Given the description of an element on the screen output the (x, y) to click on. 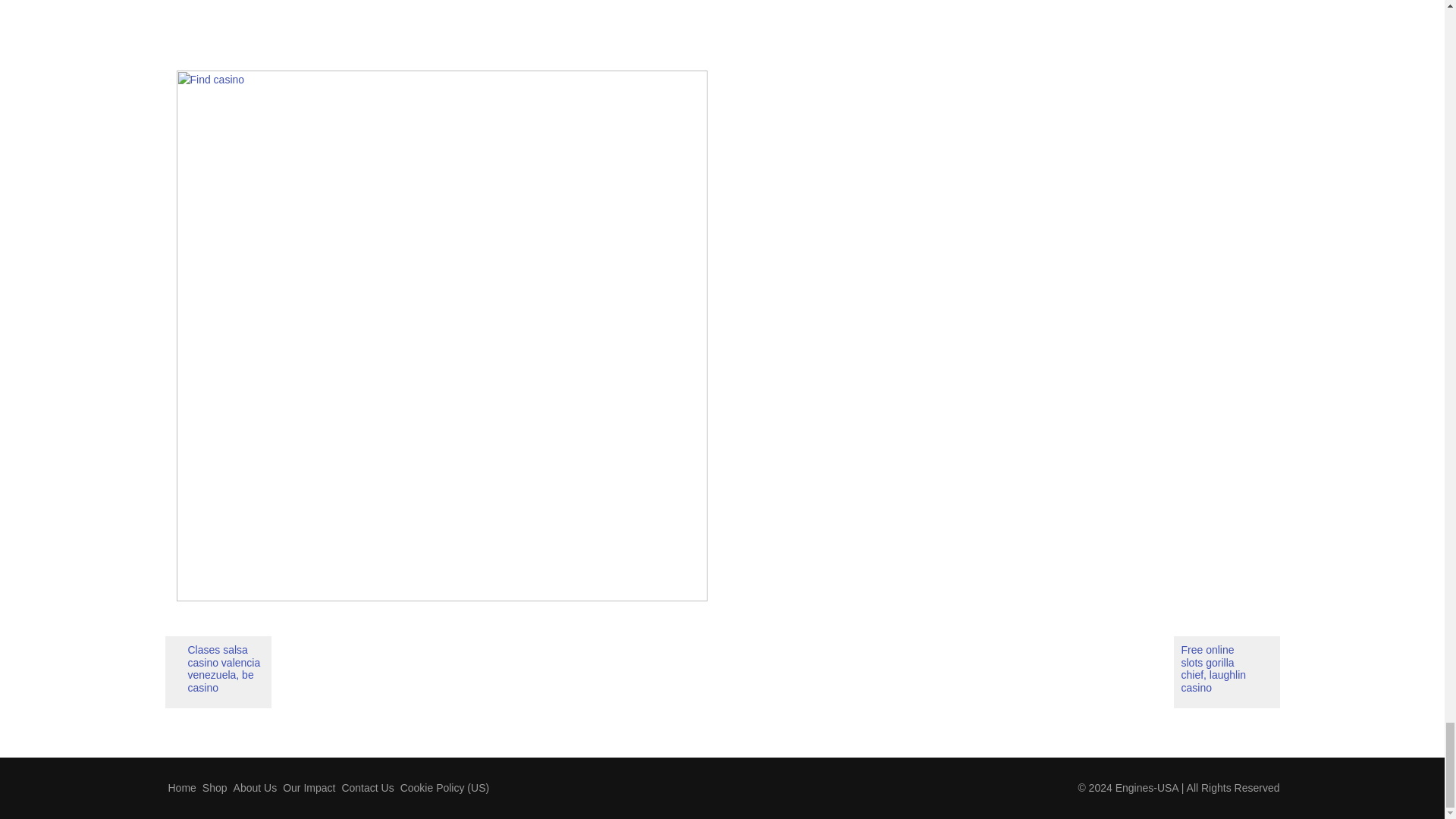
Our Impact (308, 787)
Home (182, 787)
Contact Us (366, 787)
Free online slots gorilla chief, laughlin casino (1226, 672)
Clases salsa casino valencia venezuela, be casino (217, 672)
About Us (255, 787)
Shop (214, 787)
